Given the description of an element on the screen output the (x, y) to click on. 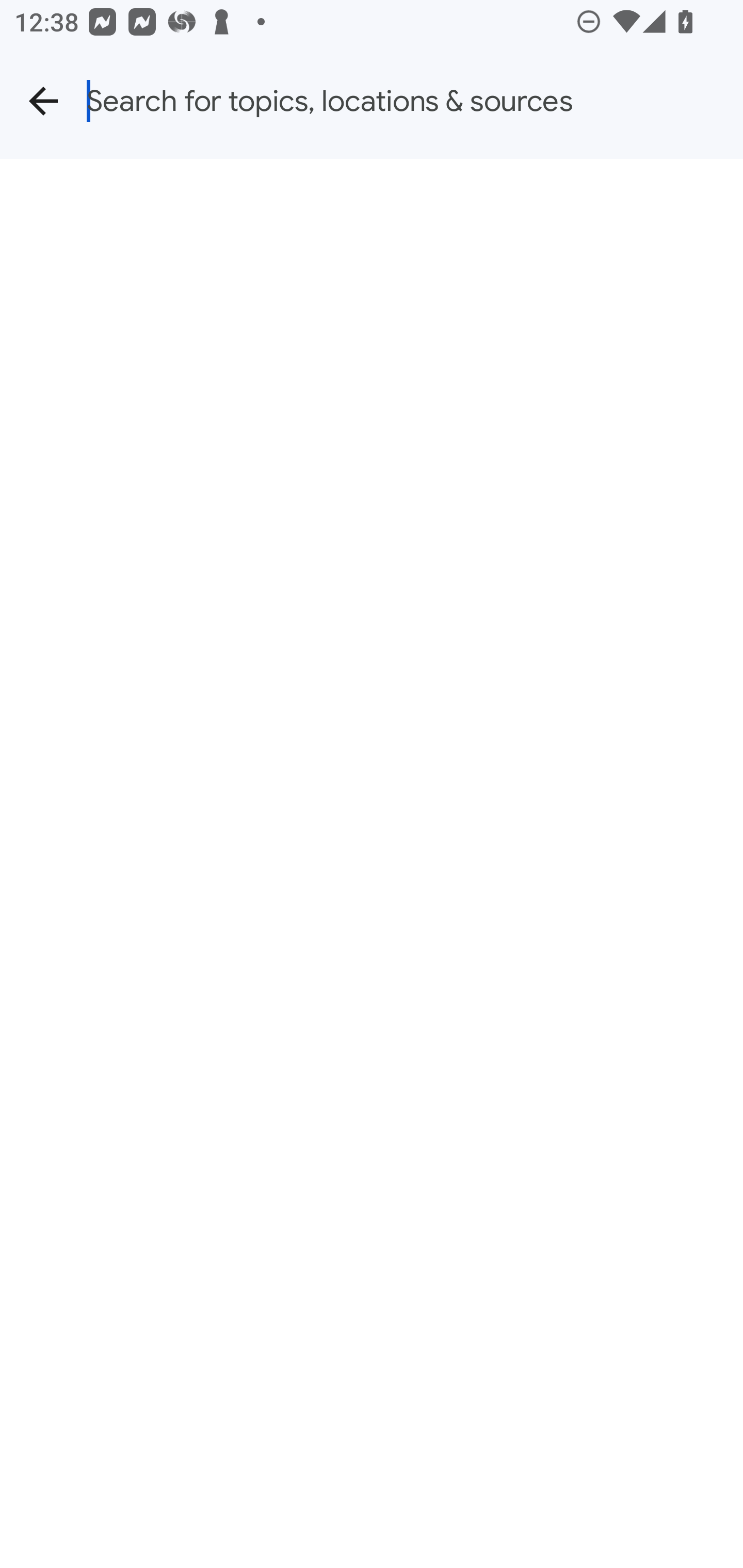
Back (43, 101)
Search for topics, locations & sources (414, 101)
